Given the description of an element on the screen output the (x, y) to click on. 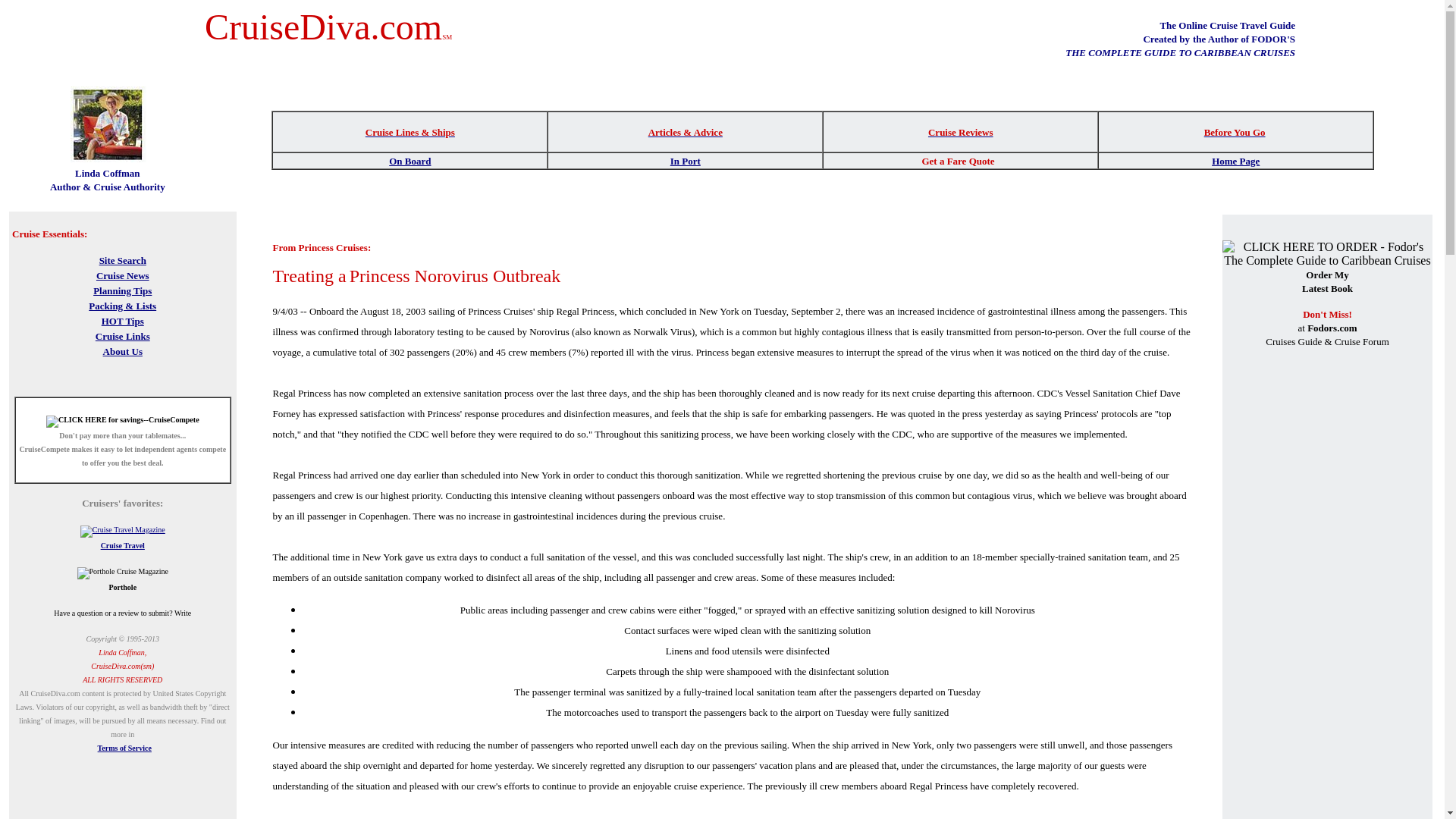
On Board (409, 159)
Cruise News (122, 274)
Cruise Reviews (960, 130)
Cruise Travel (122, 545)
In Port (684, 159)
Before You Go (1234, 130)
HOT Tips (122, 319)
Planning Tips (122, 289)
About Us (122, 350)
Terms of Service (124, 747)
Cruise Links (122, 335)
Site Search (123, 259)
Home Page (1235, 160)
